Given the description of an element on the screen output the (x, y) to click on. 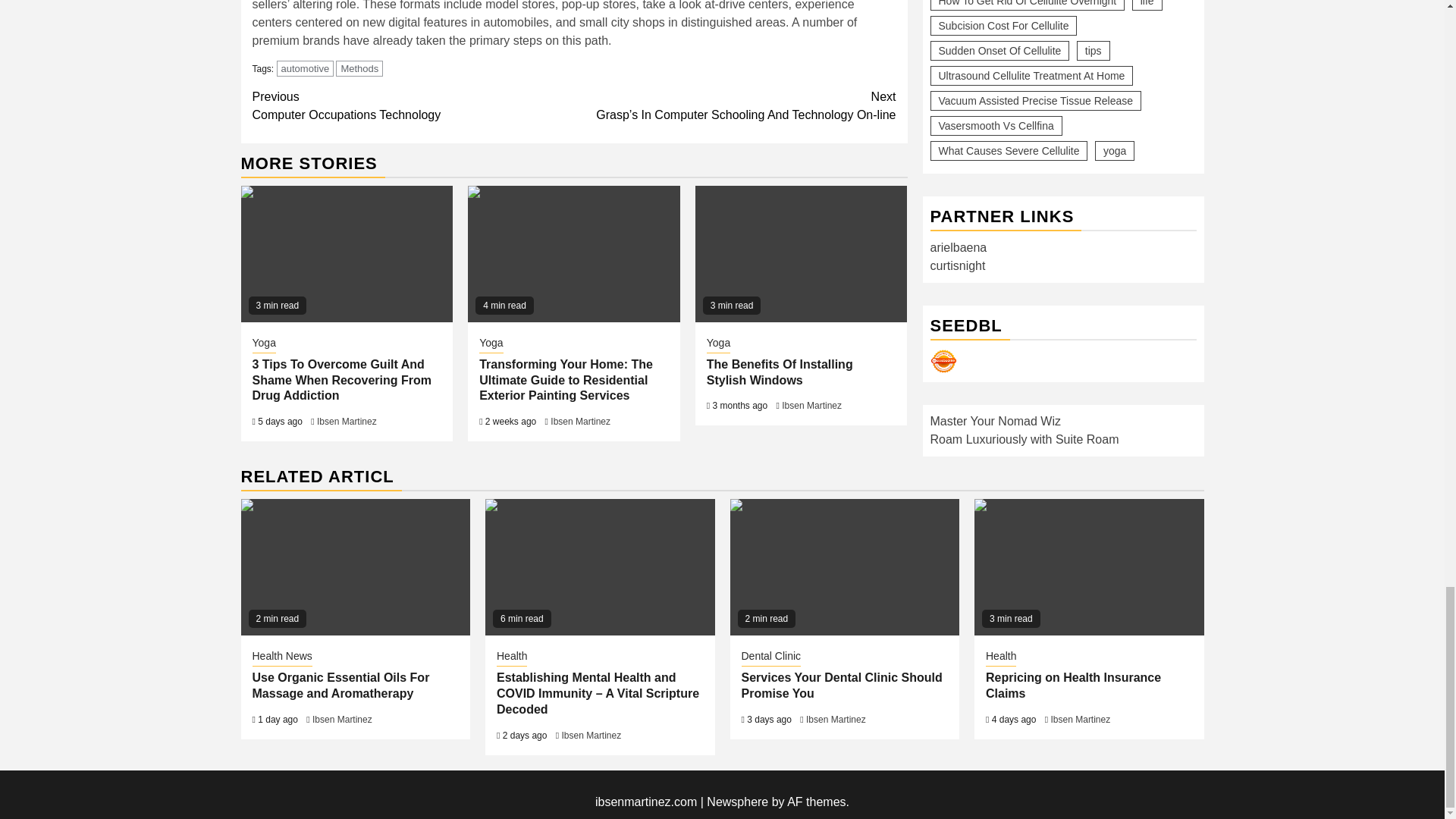
Use Organic Essential Oils For Massage and Aromatherapy (355, 566)
automotive (305, 68)
Methods (359, 68)
